Given the description of an element on the screen output the (x, y) to click on. 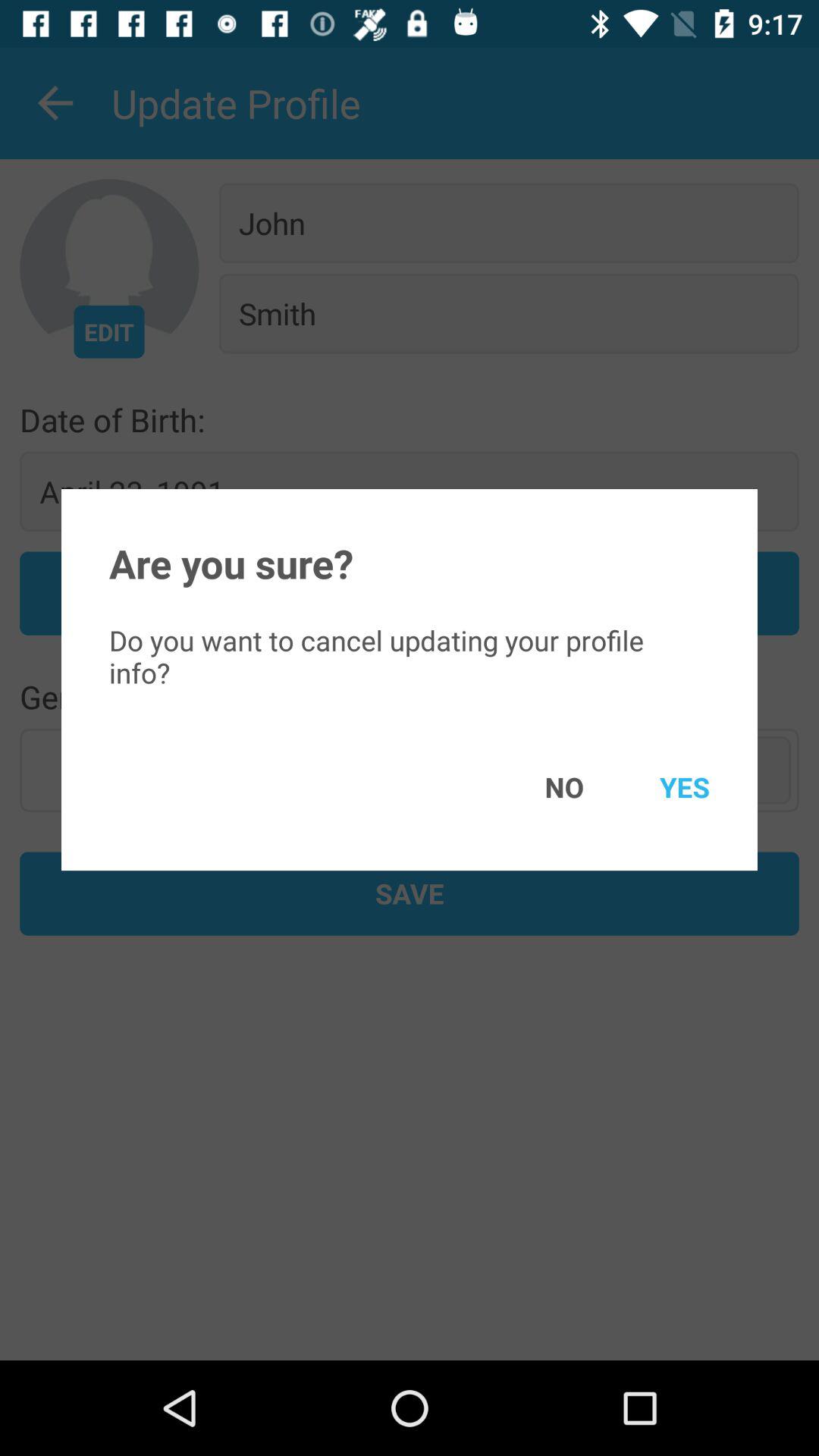
tap the icon to the right of no icon (662, 786)
